Given the description of an element on the screen output the (x, y) to click on. 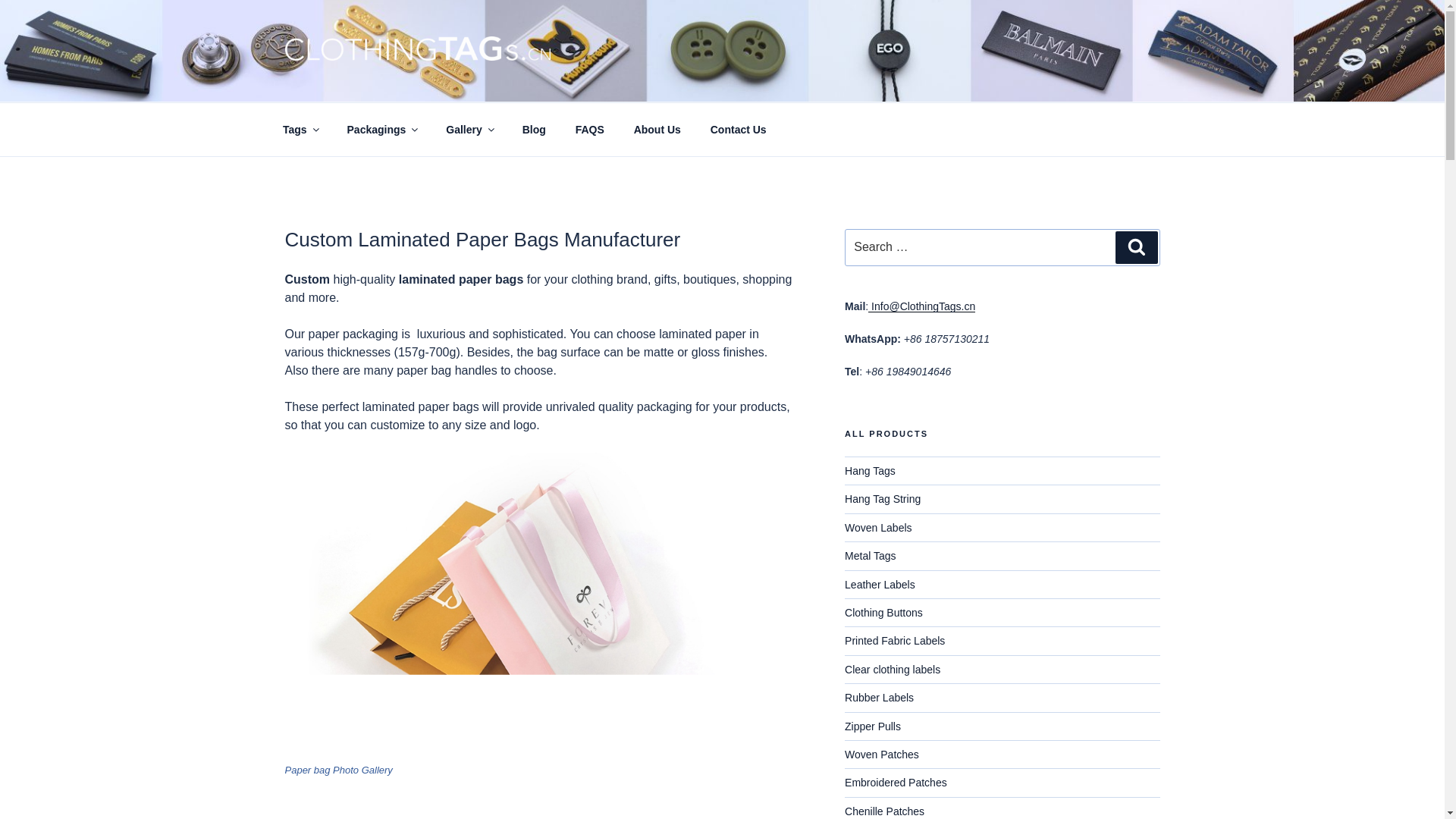
CLOTHINGTAGS.CN (432, 82)
Tags (300, 129)
